Given the description of an element on the screen output the (x, y) to click on. 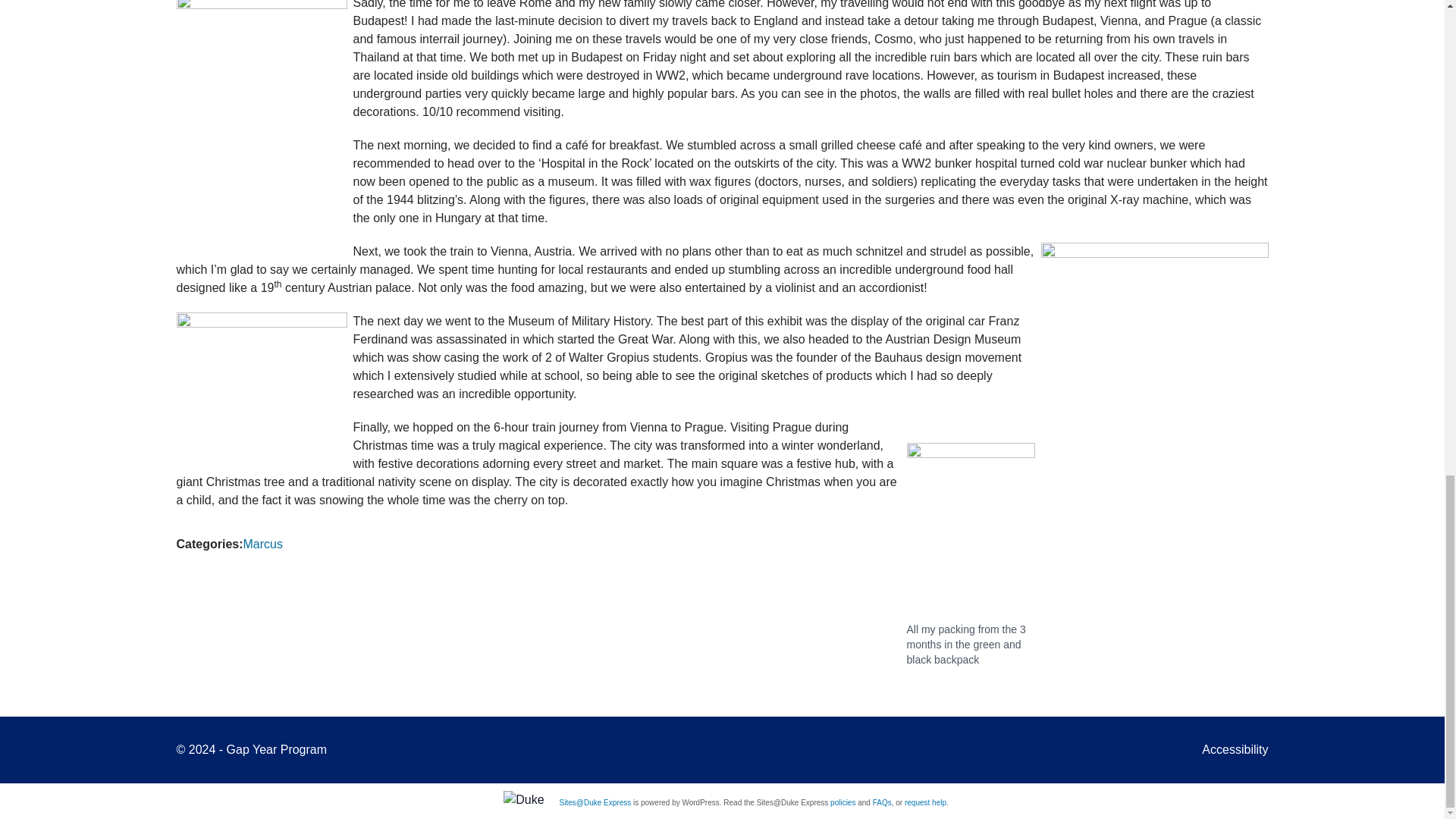
Visit Duke.edu (523, 799)
Accessibility (1235, 748)
request help (925, 802)
FAQs (881, 802)
Marcus (262, 543)
policies (842, 802)
